Given the description of an element on the screen output the (x, y) to click on. 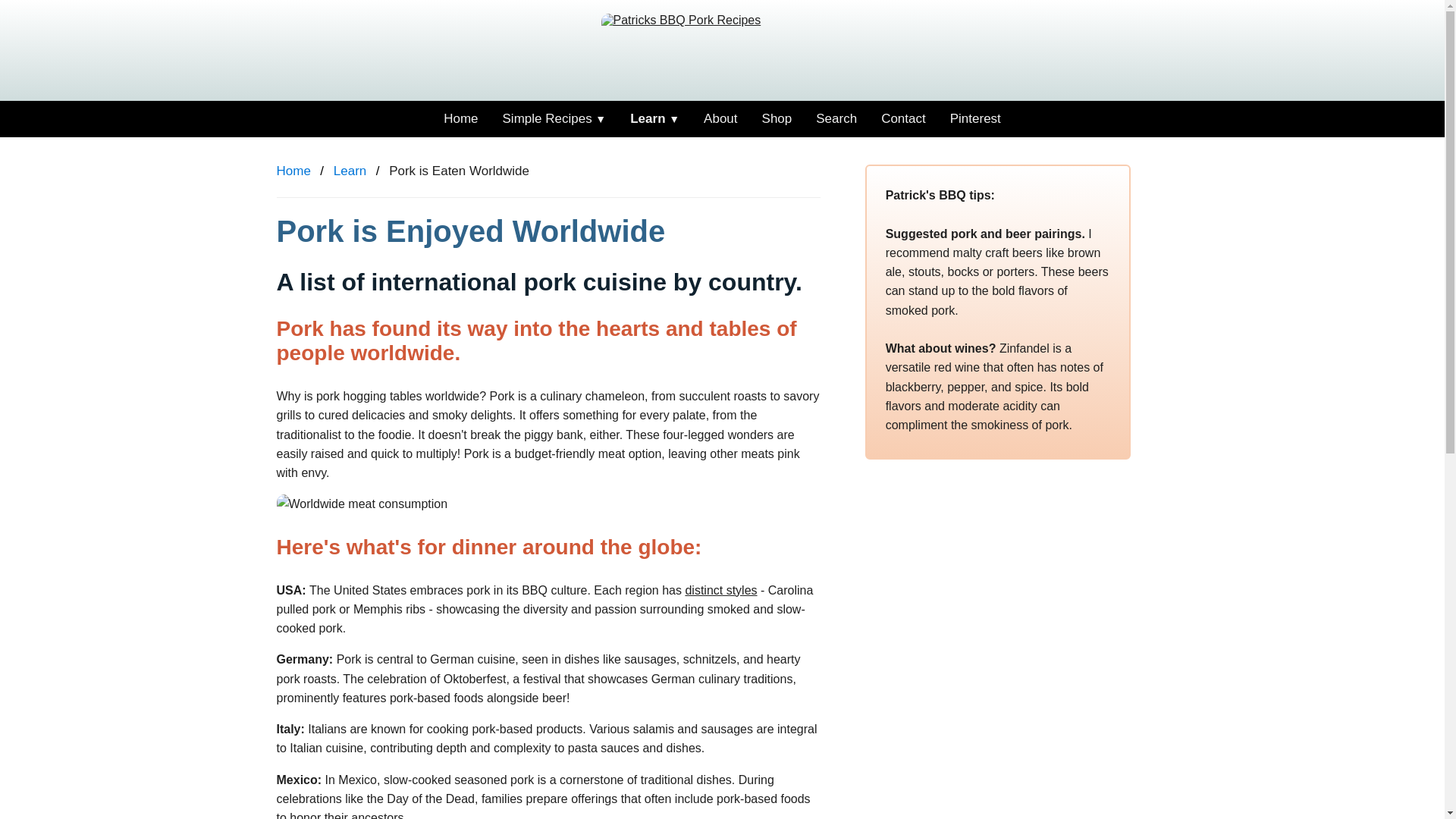
Pinterest (975, 118)
distinct styles (720, 590)
Home (459, 118)
Contact (903, 118)
Shop (777, 118)
Learn (349, 170)
About (720, 118)
Search (836, 118)
Home (293, 170)
Patrick's Pork website home page link (721, 56)
